Given the description of an element on the screen output the (x, y) to click on. 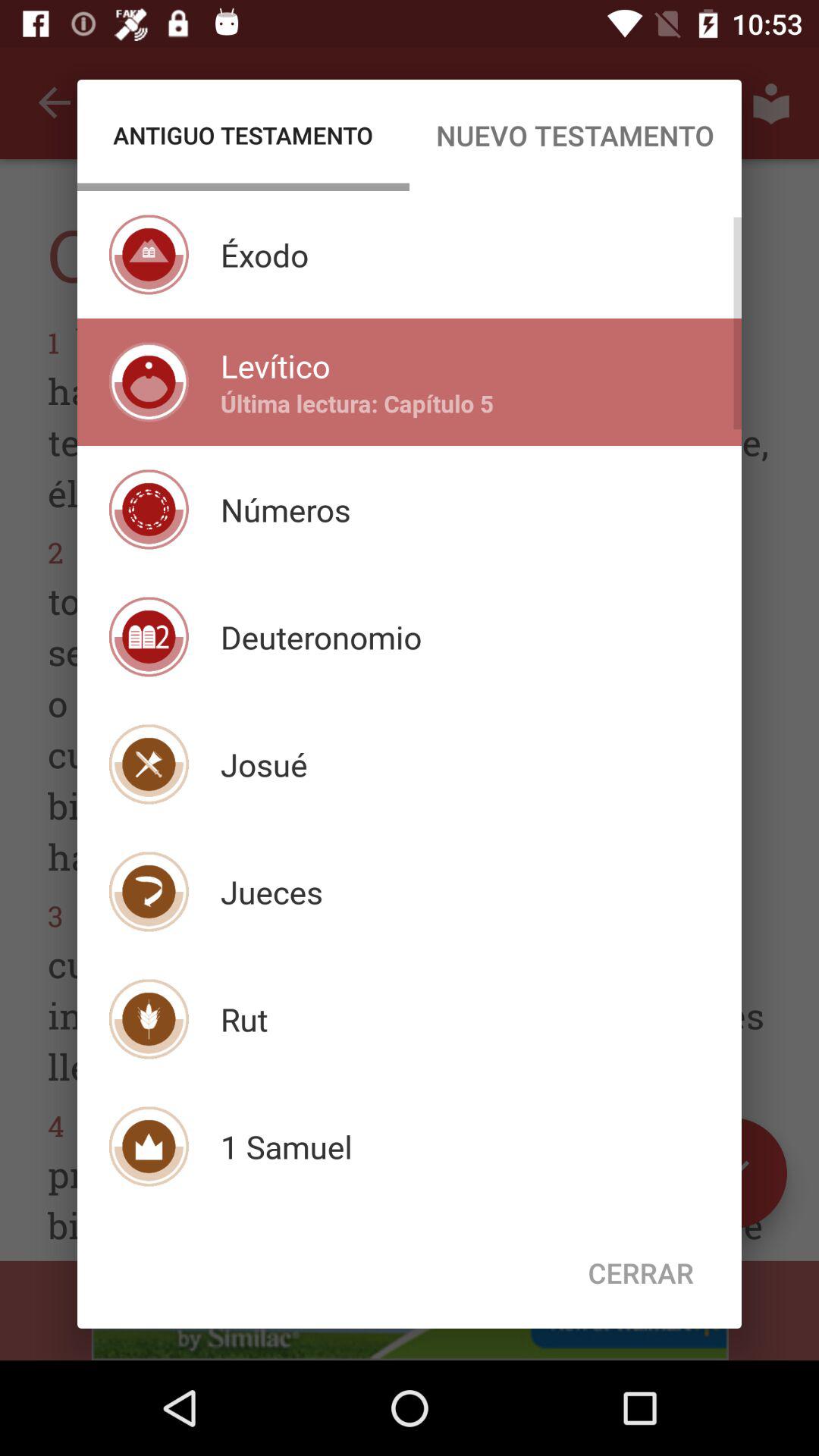
launch the 1 samuel icon (286, 1146)
